Given the description of an element on the screen output the (x, y) to click on. 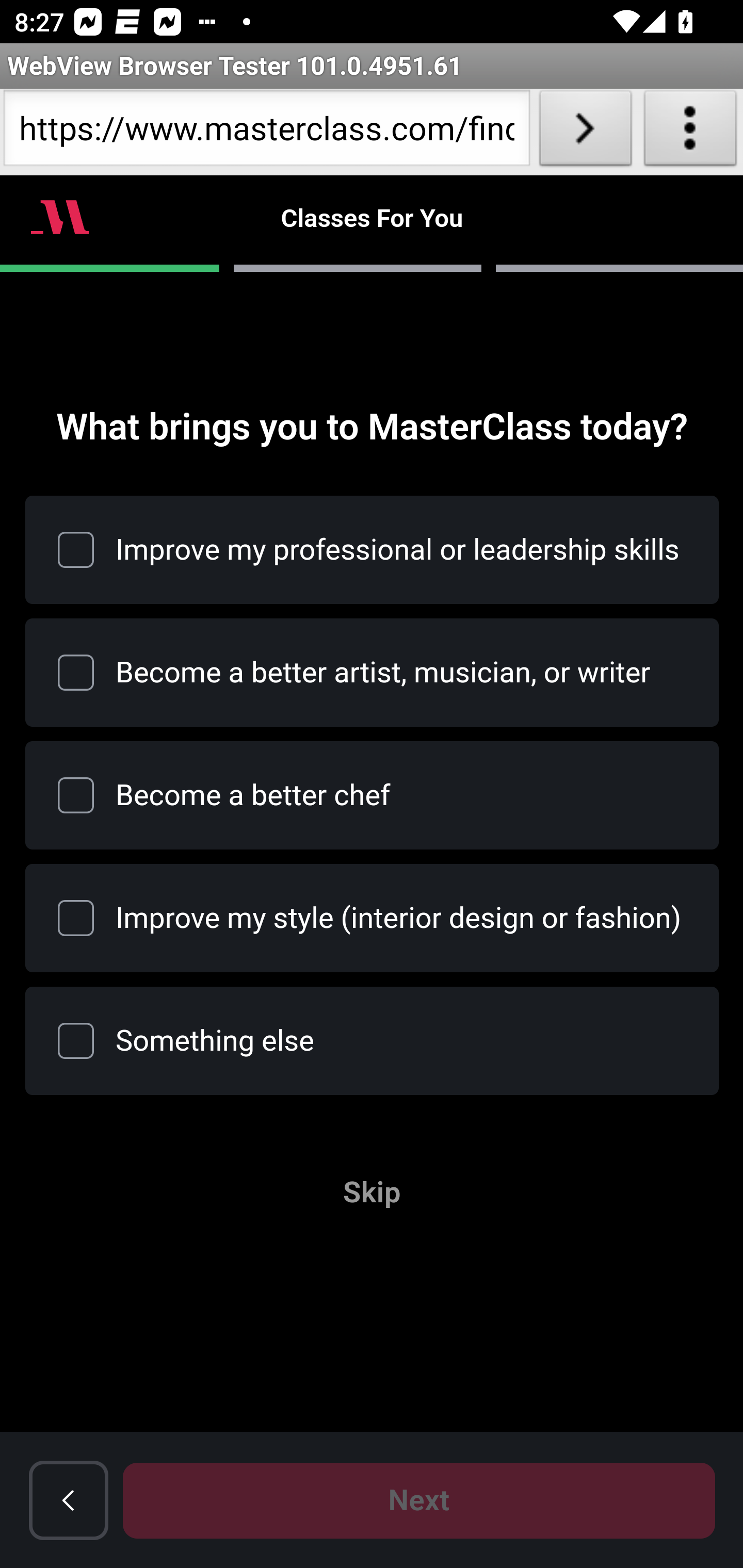
https://www.masterclass.com/find-my-classes (266, 132)
Load URL (585, 132)
About WebView (690, 132)
MasterClass logo (59, 216)
Improve my professional or leadership skills (372, 549)
Improve my professional or leadership skills (76, 549)
Become a better artist, musician, or writer (372, 672)
Become a better artist, musician, or writer (76, 672)
Become a better chef (372, 794)
Become a better chef (76, 794)
Improve my style (interior design or fashion) (372, 917)
Improve my style (interior design or fashion) (76, 917)
Something else (372, 1041)
Something else (76, 1040)
Skip (371, 1192)
Back (68, 1501)
Next (419, 1500)
